Given the description of an element on the screen output the (x, y) to click on. 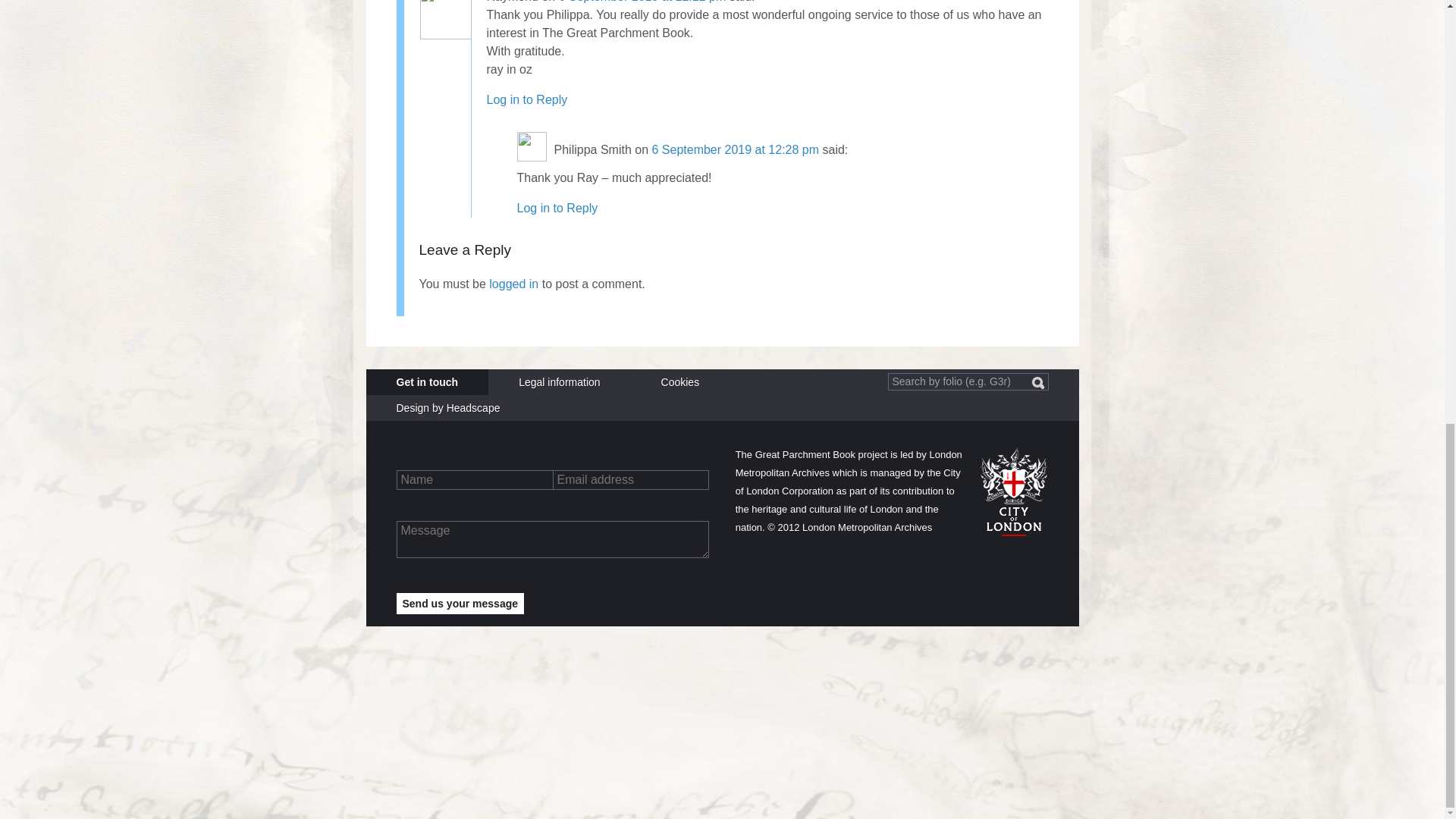
Design by Headscape (447, 407)
Get in touch (426, 381)
Legal information (558, 381)
Cookies (680, 381)
Log in to Reply (557, 207)
Send us your message (460, 603)
logged in (513, 283)
Go (1036, 383)
6 September 2019 at 12:12 pm (642, 1)
Log in to Reply (526, 99)
Go (1036, 383)
6 September 2019 at 12:28 pm (734, 148)
Send us your message (460, 603)
